Given the description of an element on the screen output the (x, y) to click on. 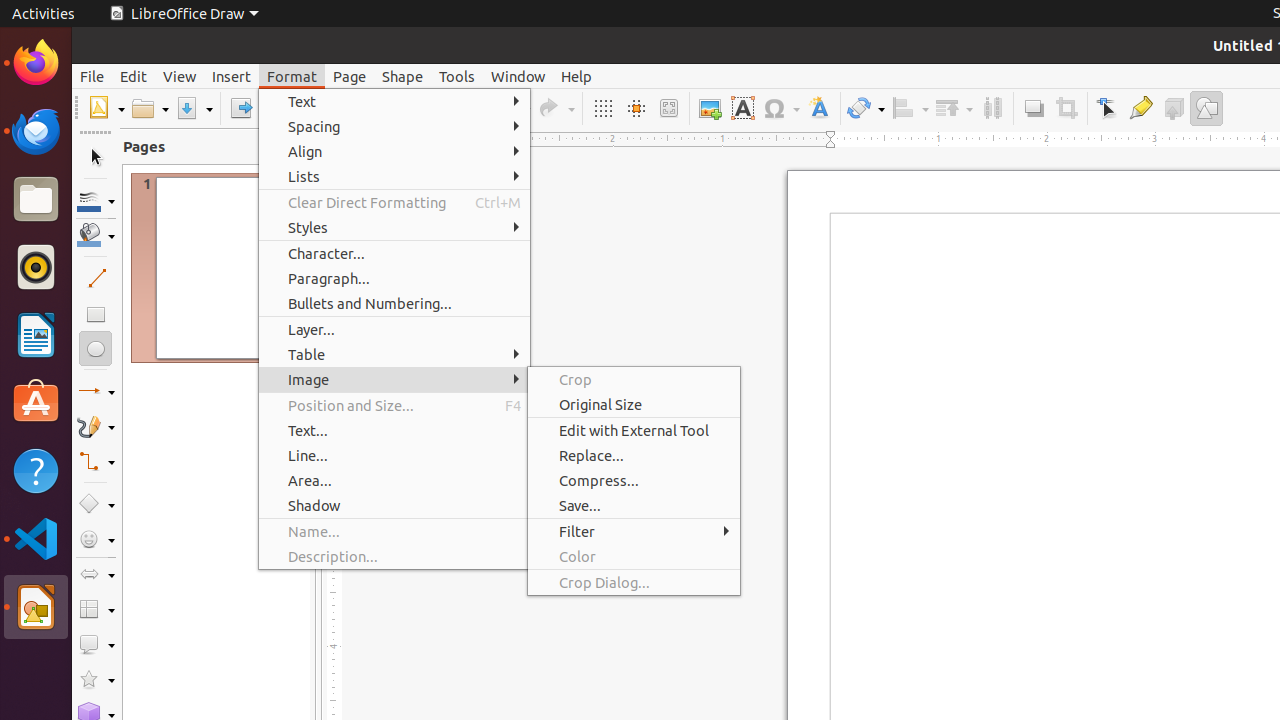
Select Element type: push-button (95, 157)
Format Element type: menu (292, 76)
Edit Points Element type: push-button (1107, 108)
Distribution Element type: push-button (992, 108)
Fontwork Style Element type: toggle-button (819, 108)
